Given the description of an element on the screen output the (x, y) to click on. 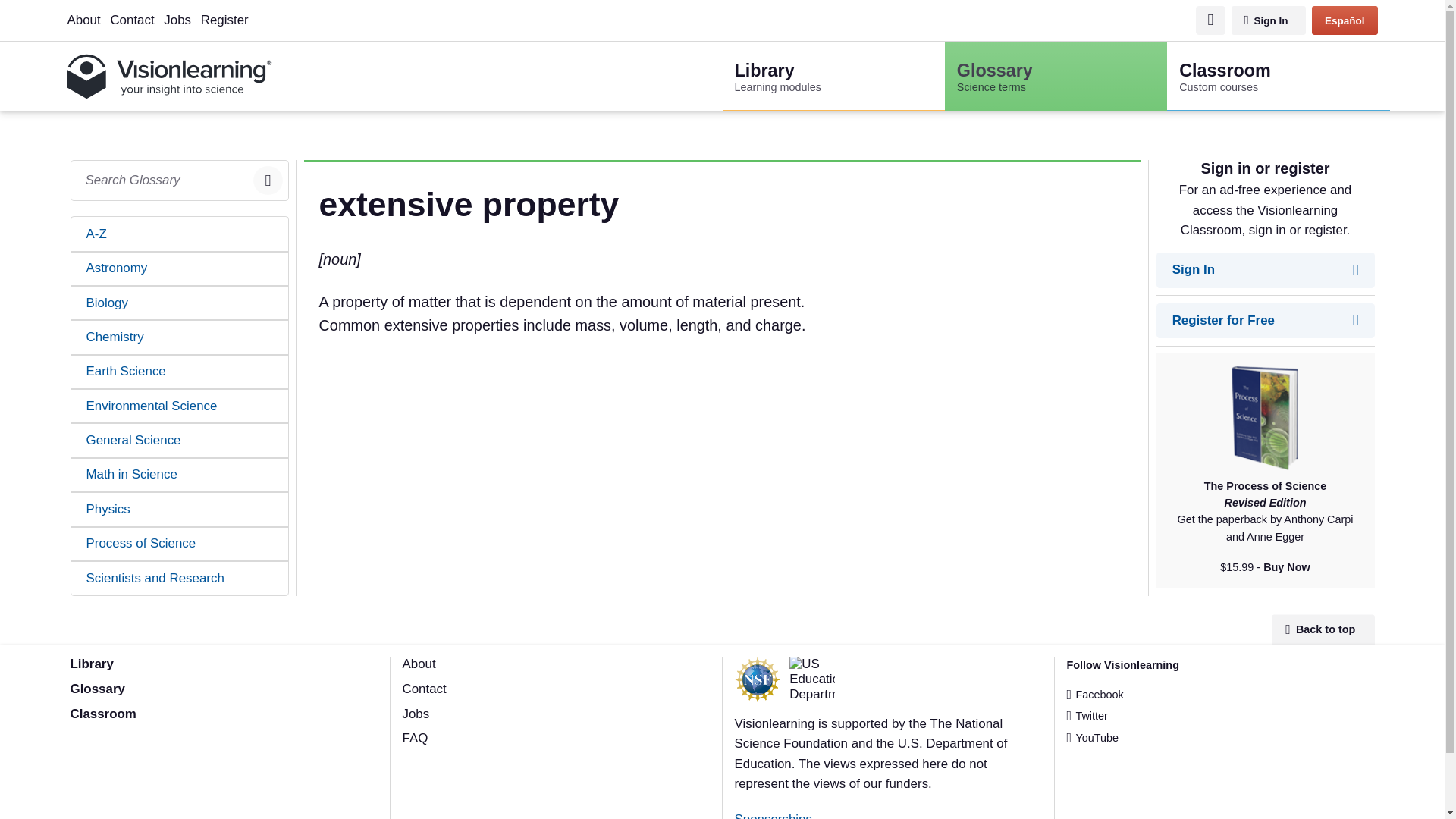
Astronomy (179, 268)
Jobs (176, 20)
Back to top (1322, 630)
Environmental Science (179, 406)
Contact (832, 76)
Jobs (132, 20)
Sign In (415, 713)
Biology (1278, 76)
Glossary (1268, 20)
General Science (179, 302)
A-Z (96, 688)
About (179, 440)
About (179, 233)
